Given the description of an element on the screen output the (x, y) to click on. 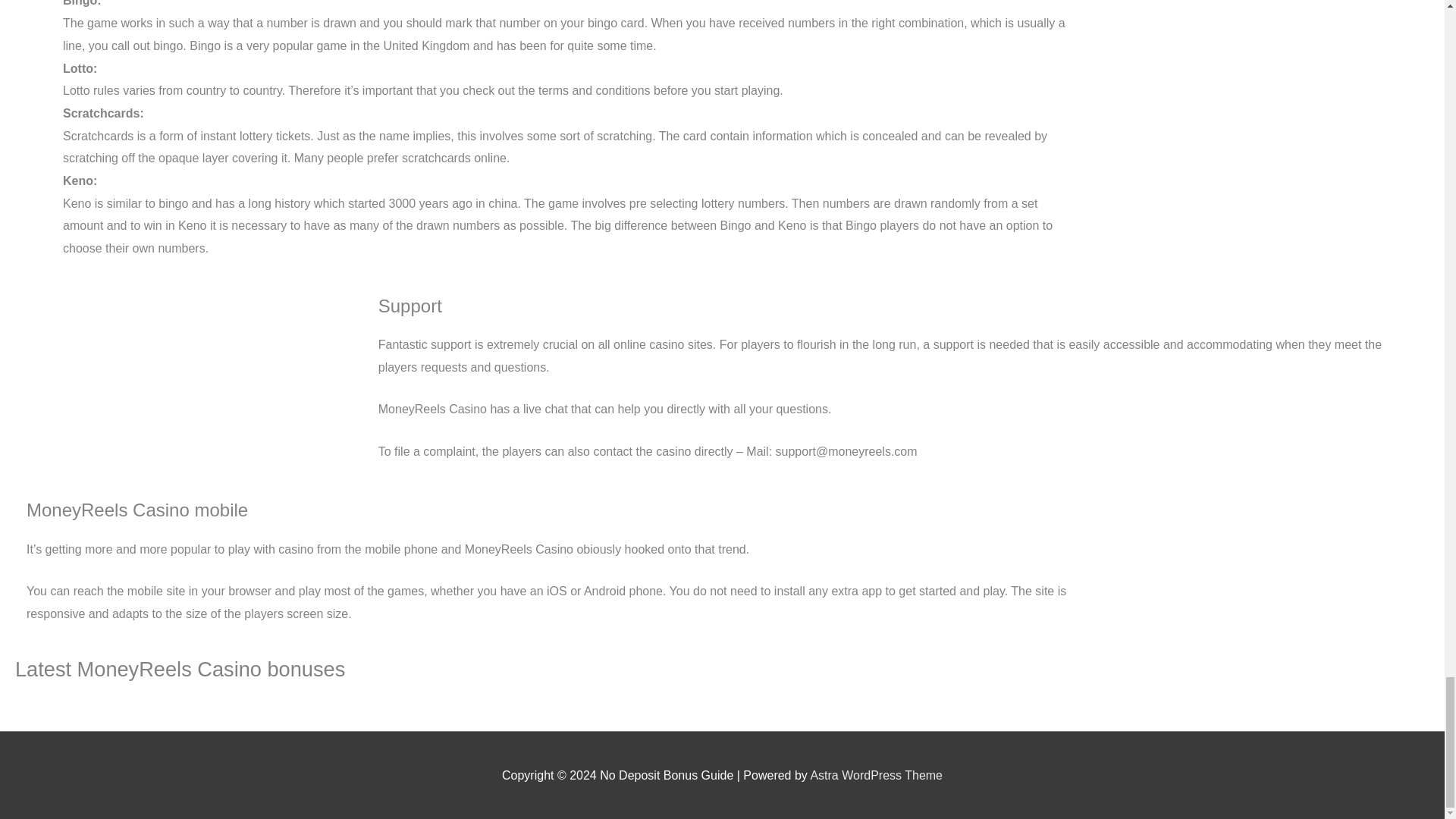
Astra WordPress Theme (875, 775)
